Given the description of an element on the screen output the (x, y) to click on. 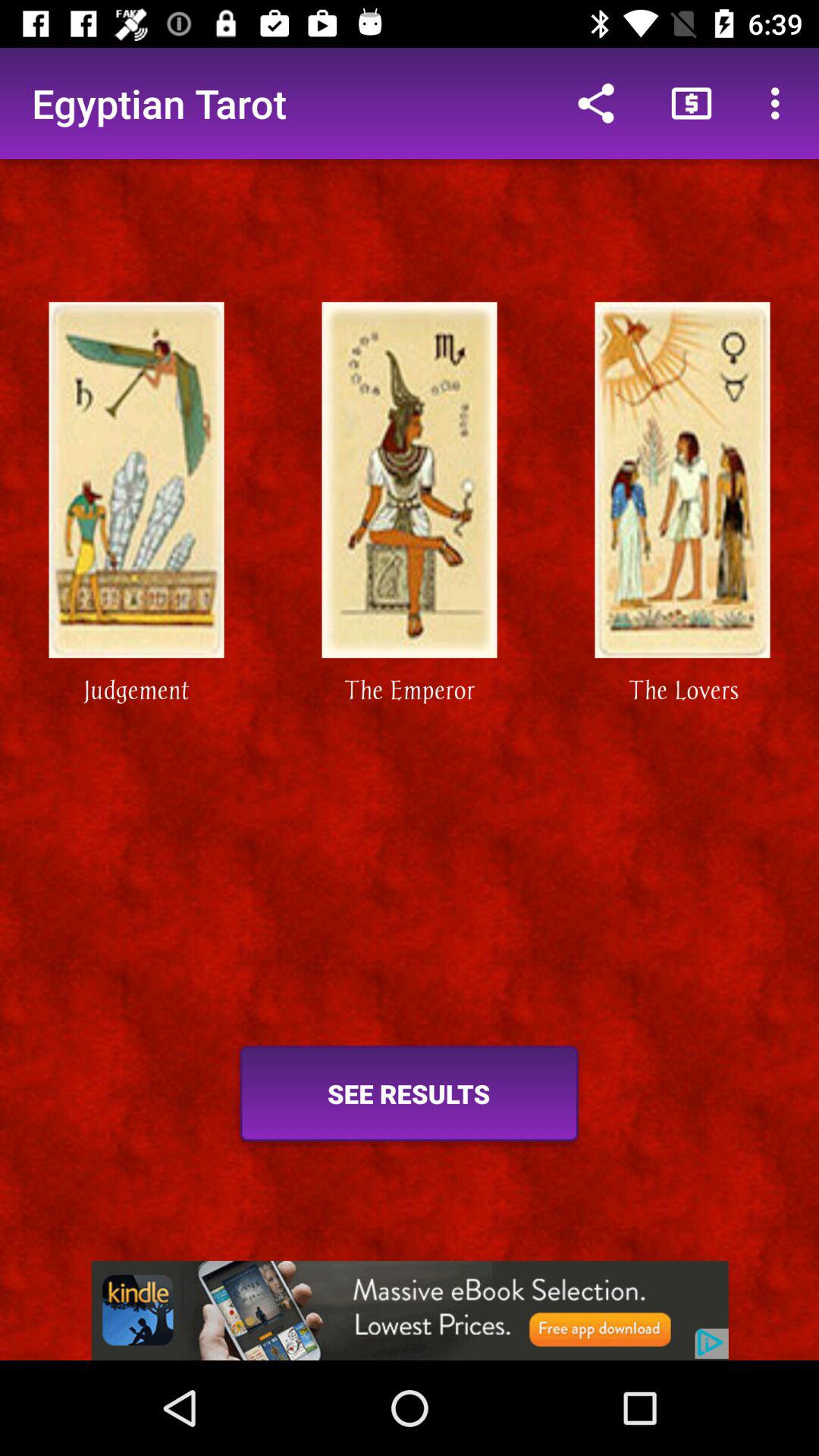
advertisent page (409, 1310)
